Given the description of an element on the screen output the (x, y) to click on. 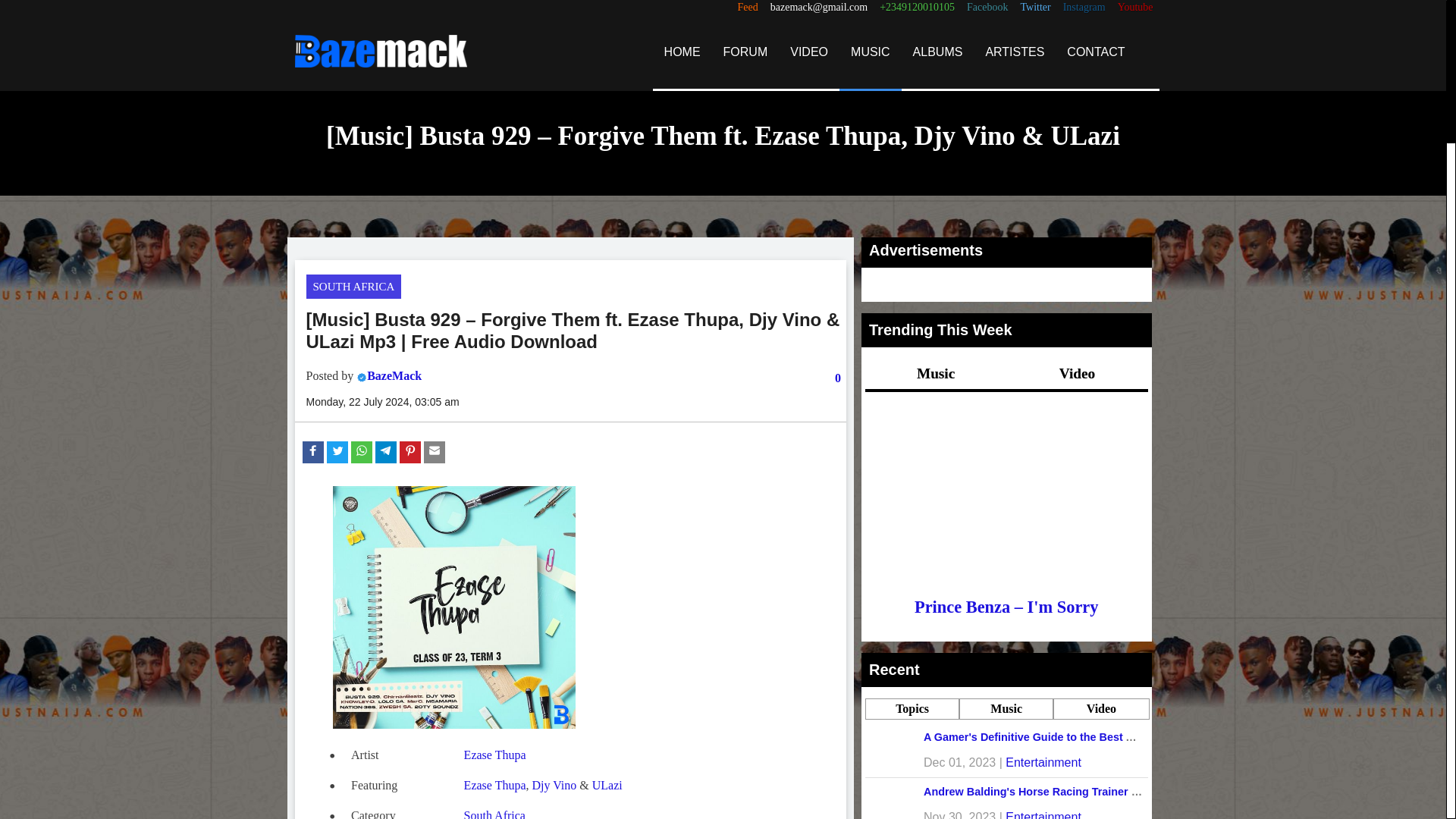
ARTISTES (1014, 51)
Feed (748, 7)
Ezase Thupa (494, 754)
Entertainment (1043, 814)
Instagram (1083, 7)
BazeMack (394, 375)
Entertainment (1043, 762)
FORUM (744, 51)
Facebook (986, 7)
Andrew Balding's Horse Racing Trainer Journey (1048, 791)
SOUTH AFRICA (353, 286)
Youtube (1135, 7)
ALBUMS (937, 51)
Twitter (1034, 7)
A Gamer's Definitive Guide to the Best Albums of 2023 (1065, 736)
